Given the description of an element on the screen output the (x, y) to click on. 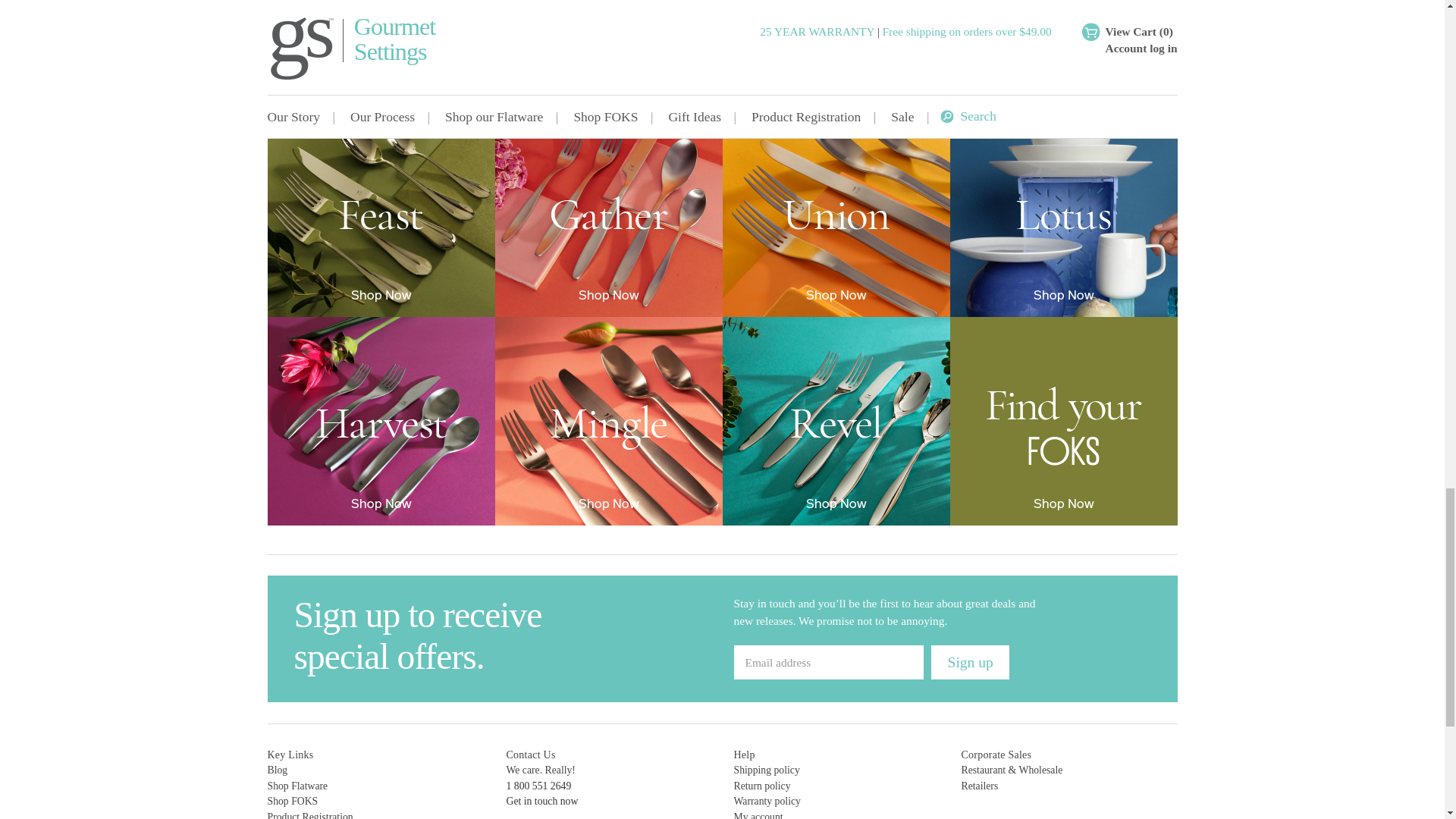
Sign up (970, 662)
